Given the description of an element on the screen output the (x, y) to click on. 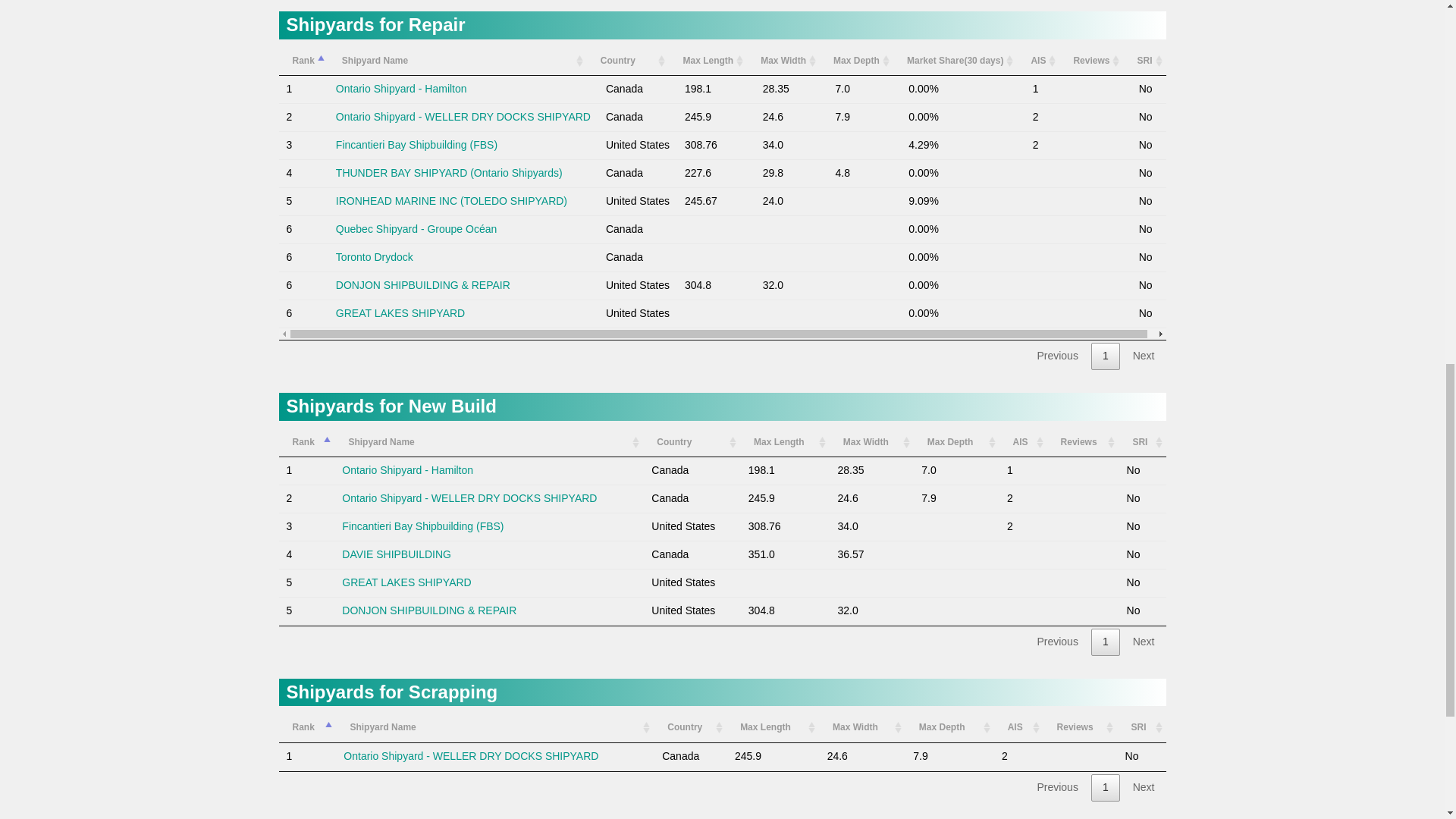
Shipyard - Ontario Shipyard - Hamilton, Canada (401, 88)
